Given the description of an element on the screen output the (x, y) to click on. 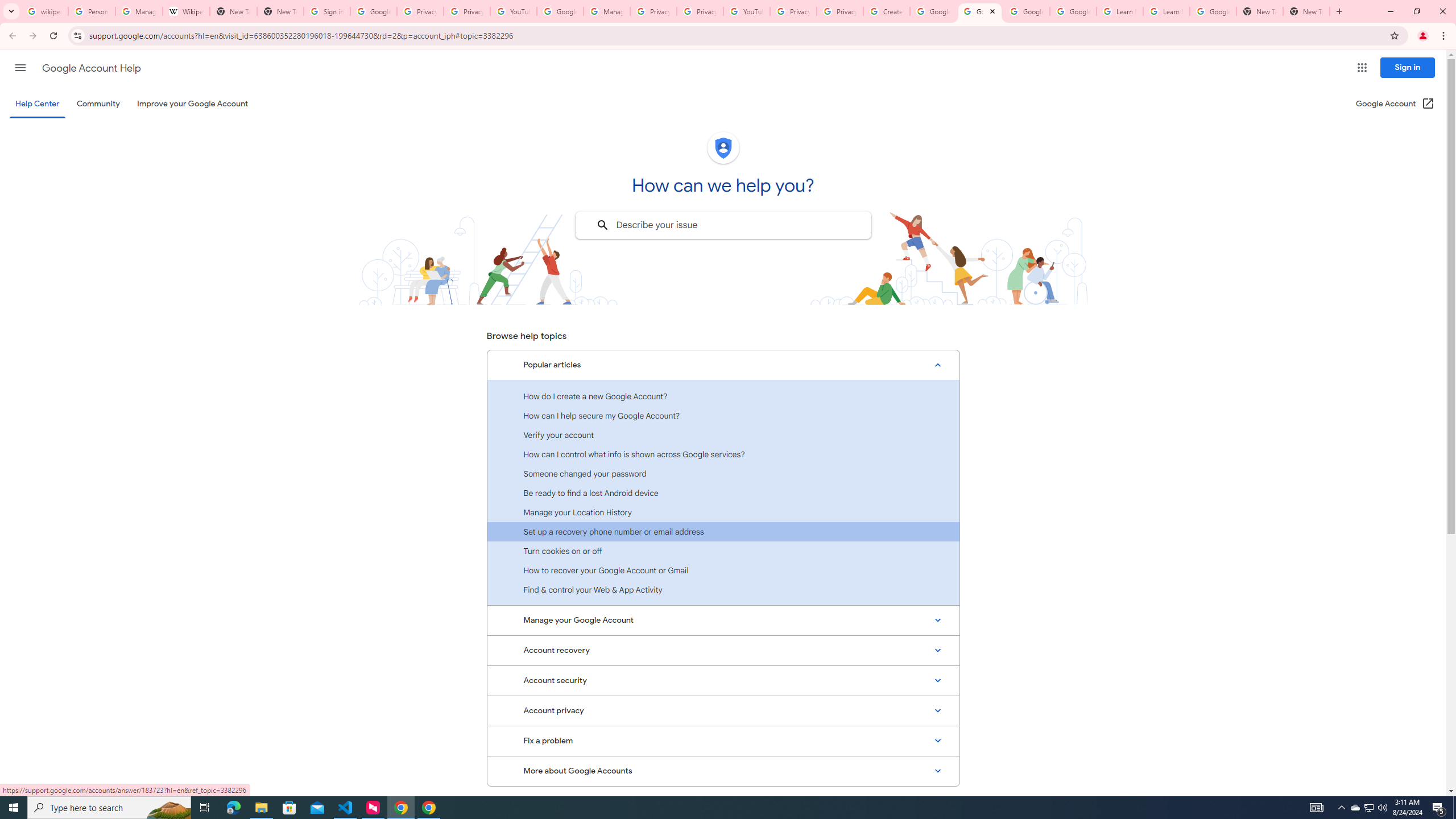
Google Account (1213, 11)
Main menu (20, 67)
How can I control what info is shown across Google services? (722, 454)
Find & control your Web & App Activity (722, 589)
Google Account Help (1026, 11)
Account security (722, 680)
Help Center (36, 103)
